Given the description of an element on the screen output the (x, y) to click on. 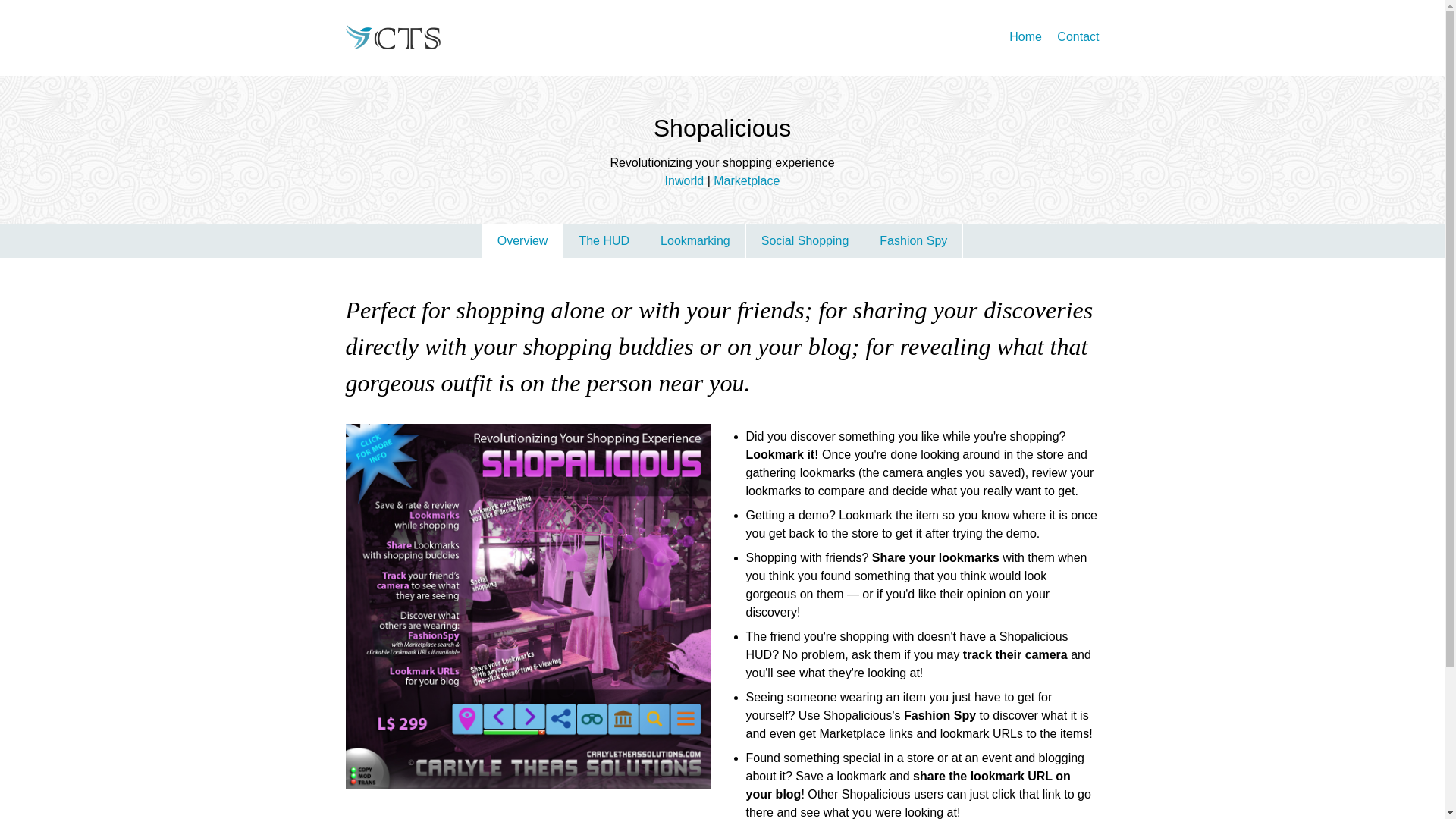
Home (1025, 36)
Inworld (684, 180)
The HUD (604, 240)
Fashion Spy (913, 240)
Social Shopping (804, 240)
Contact (1078, 36)
Overview (522, 240)
Marketplace (745, 180)
Lookmarking (695, 240)
